Given the description of an element on the screen output the (x, y) to click on. 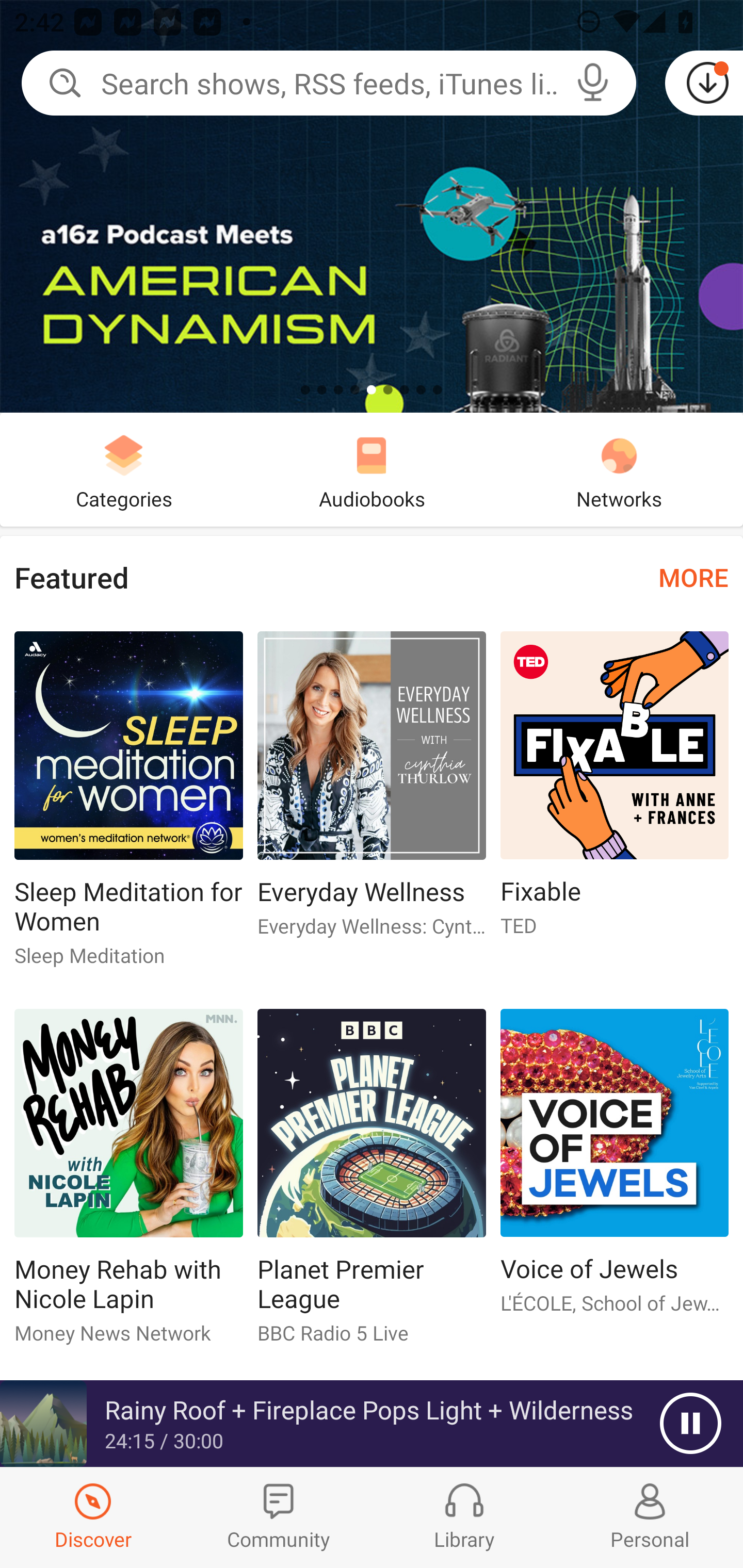
a16z Podcast (371, 206)
Categories (123, 469)
Audiobooks (371, 469)
Networks (619, 469)
MORE (693, 576)
Fixable Fixable TED (614, 792)
Pause (690, 1423)
Discover (92, 1517)
Community (278, 1517)
Library (464, 1517)
Profiles and Settings Personal (650, 1517)
